Given the description of an element on the screen output the (x, y) to click on. 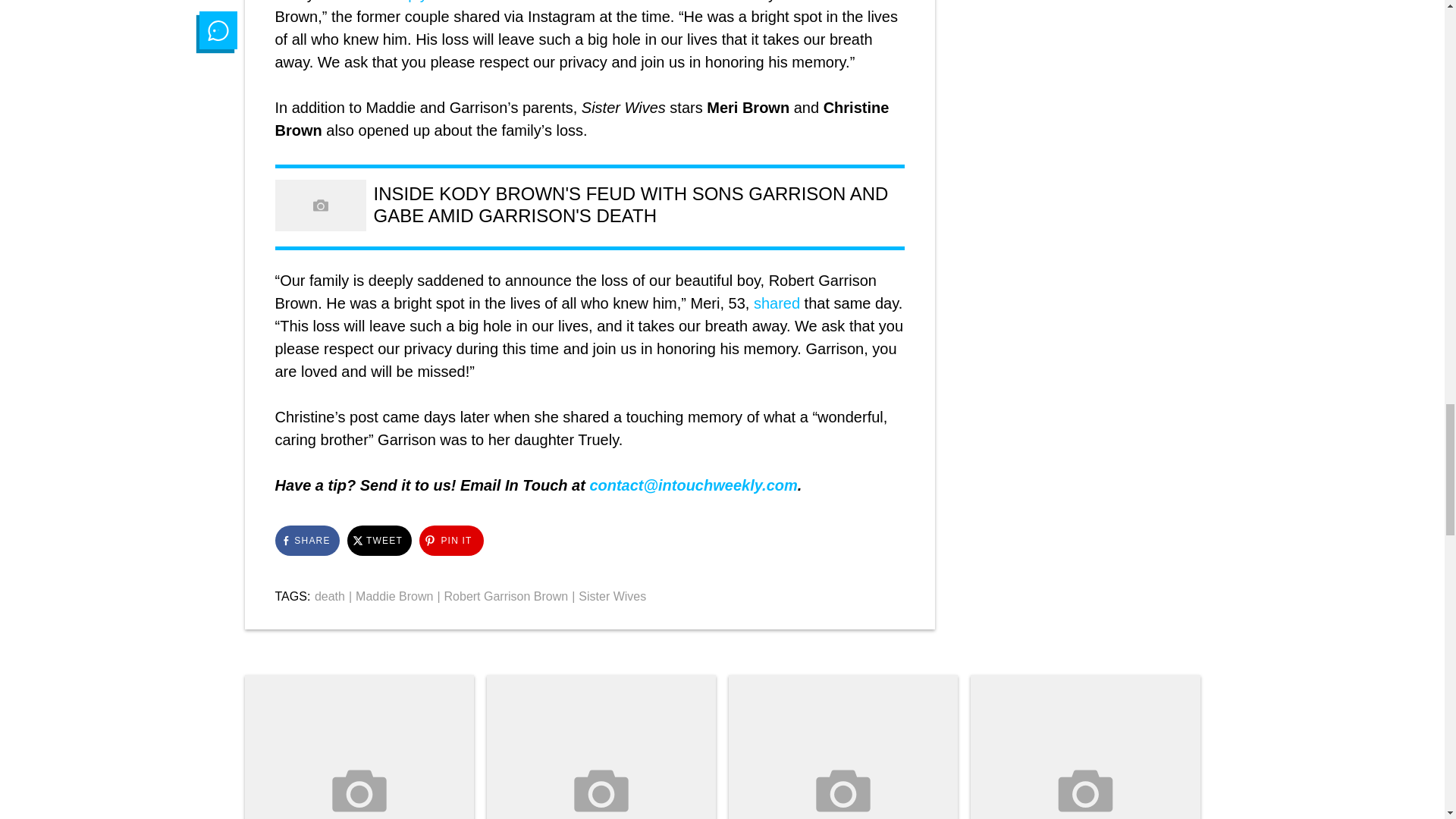
Click to share on Twitter (379, 540)
Click to share on Pinterest (451, 540)
Click to share on Facebook (307, 540)
